Given the description of an element on the screen output the (x, y) to click on. 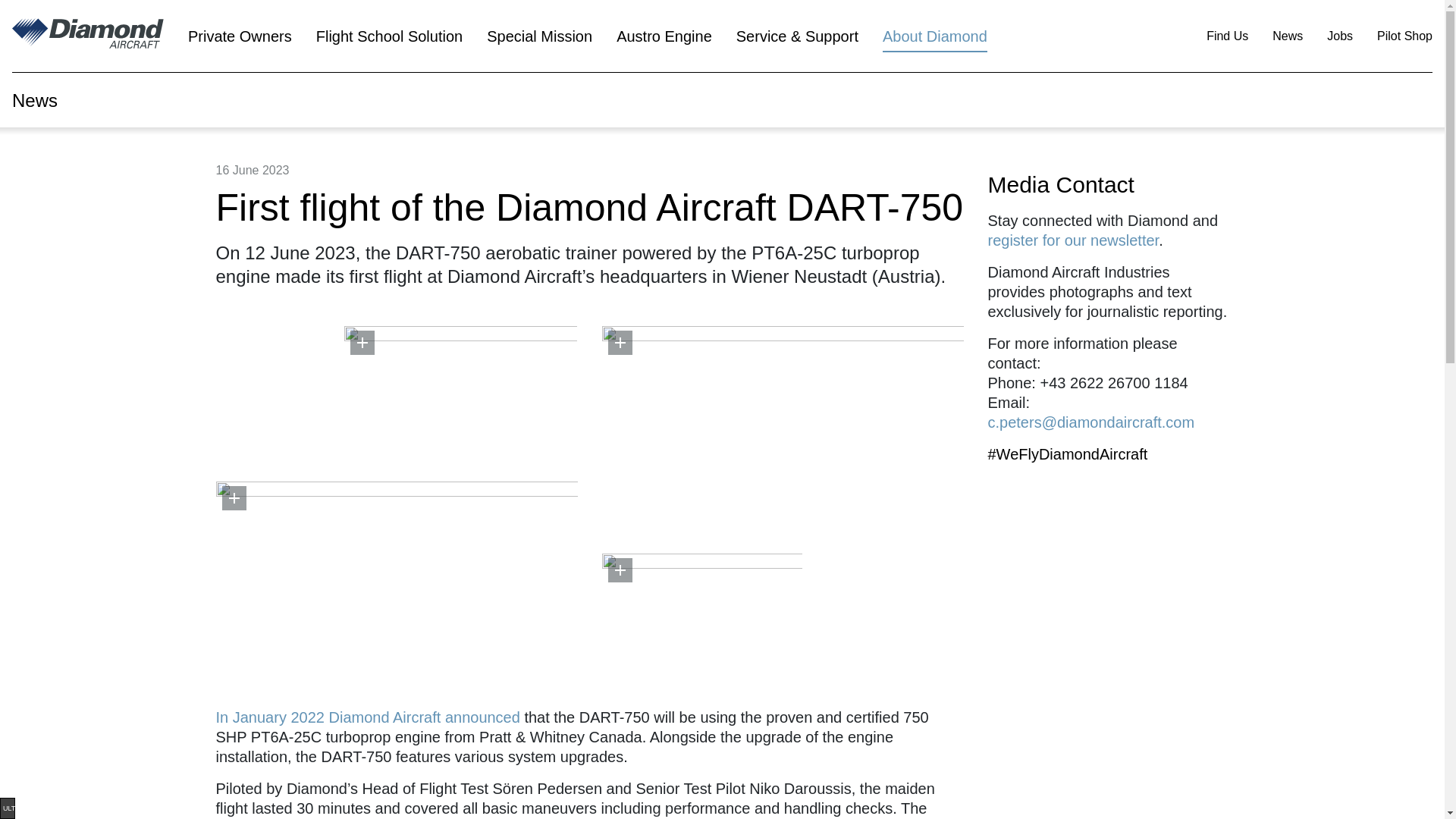
Private Owners (240, 36)
Flight School Solution (389, 36)
About Diamond (934, 36)
Austro Engine (663, 36)
Special Mission (539, 36)
